Given the description of an element on the screen output the (x, y) to click on. 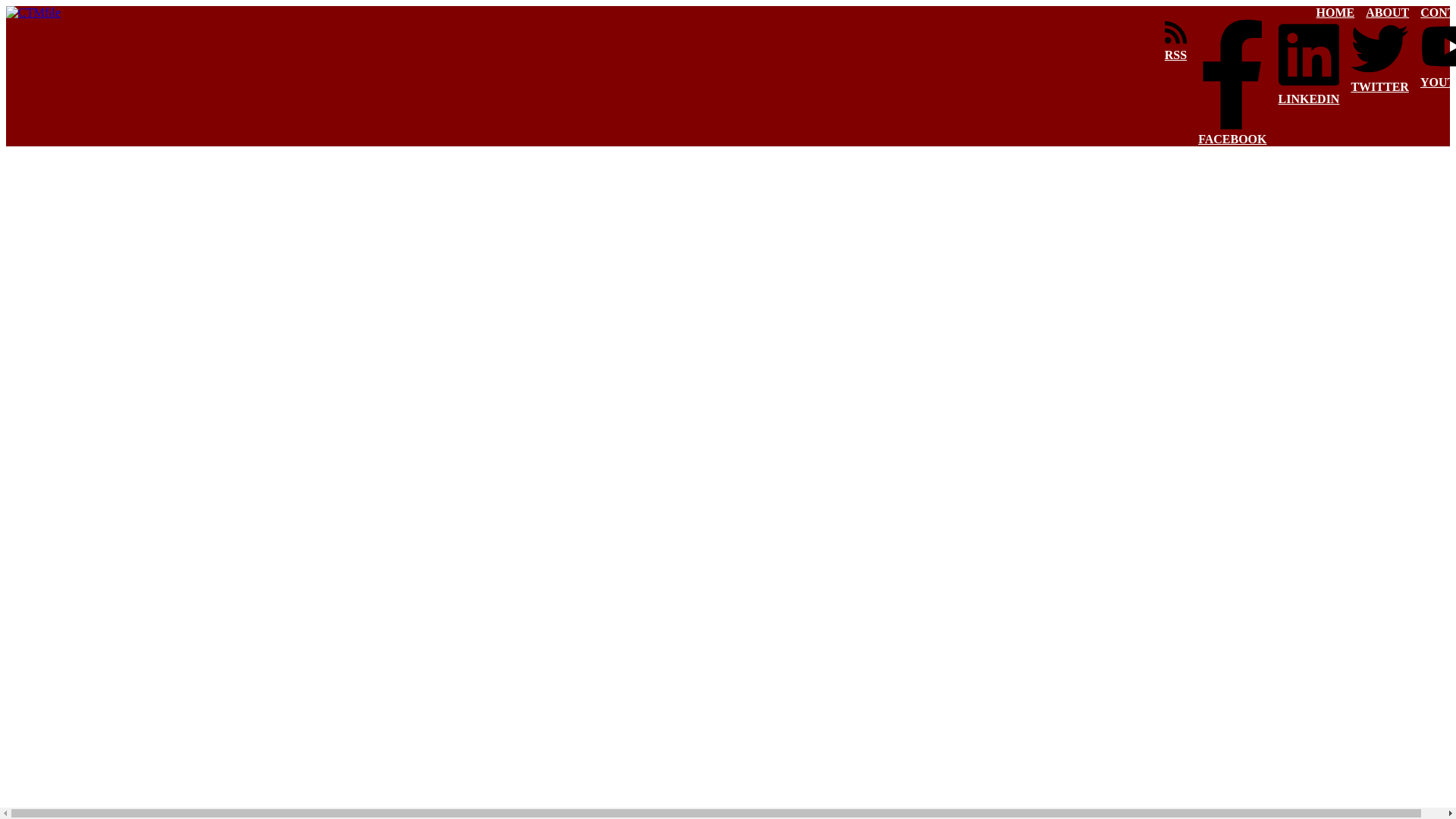
HOME (1335, 12)
ABOUT (1387, 12)
